Given the description of an element on the screen output the (x, y) to click on. 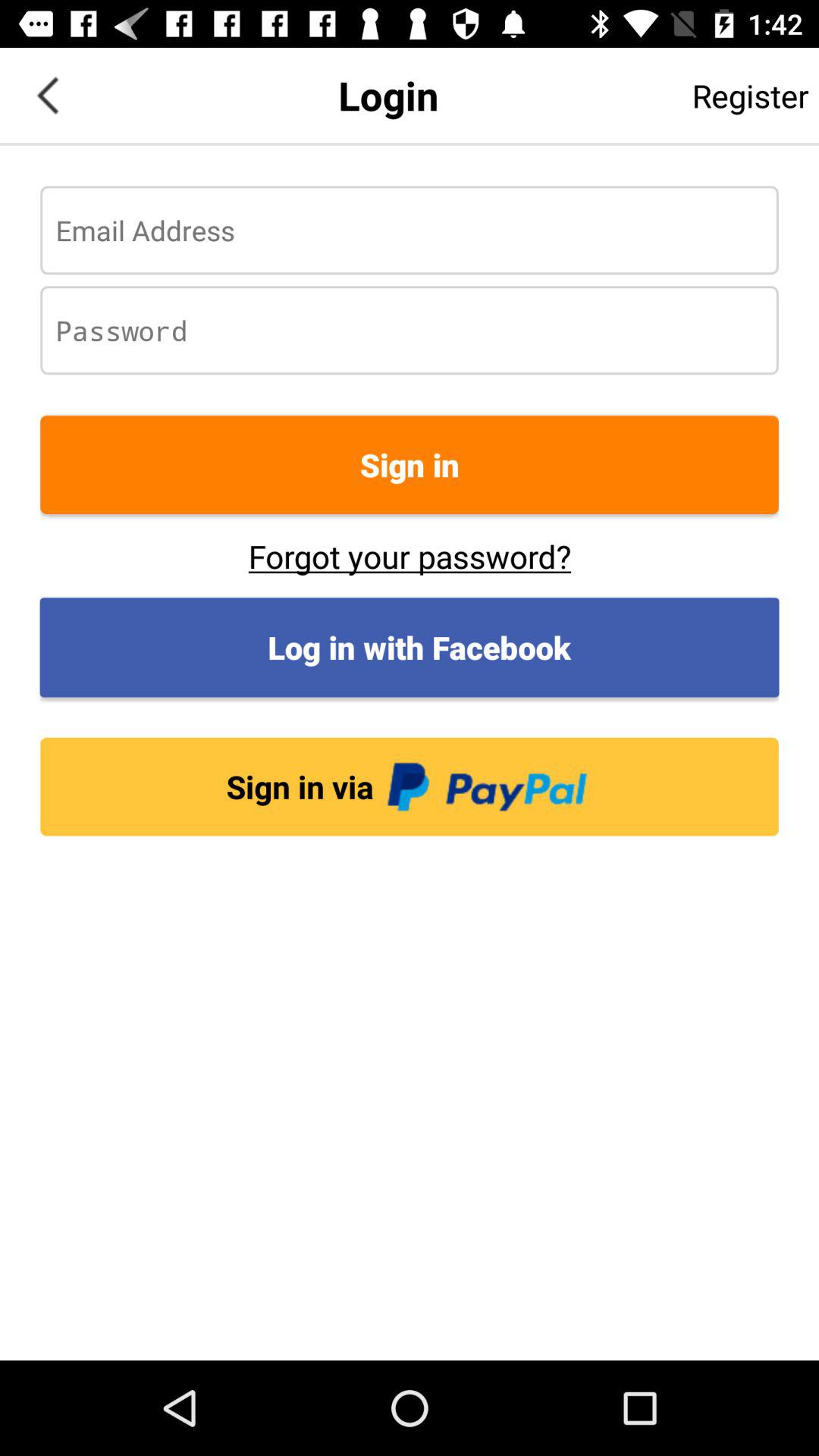
turn on icon at the top left corner (47, 95)
